Given the description of an element on the screen output the (x, y) to click on. 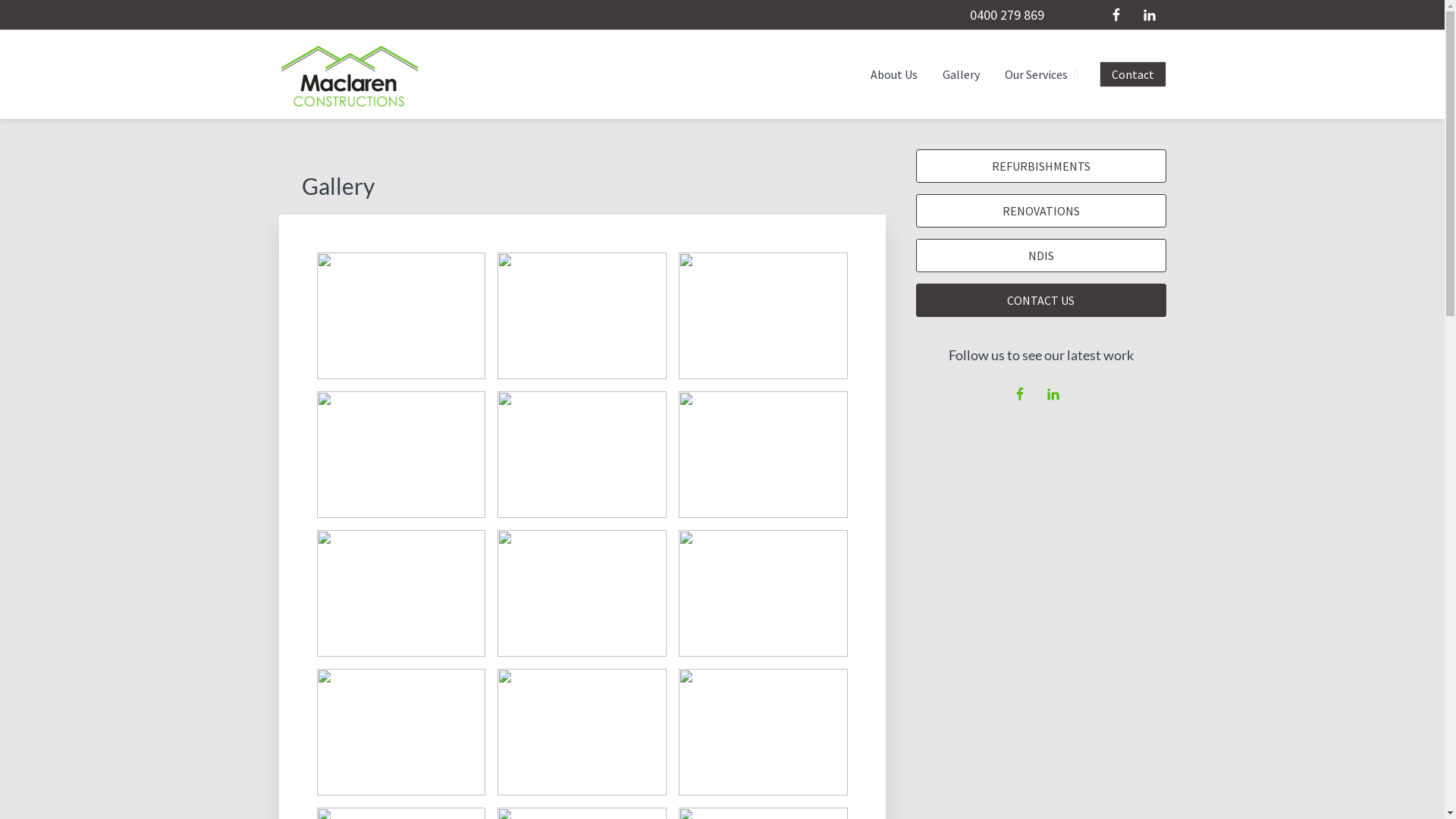
Gallery Element type: text (961, 74)
CONTACT US Element type: text (1041, 299)
Our Services Element type: text (1041, 74)
About Us Element type: text (893, 74)
REFURBISHMENTS Element type: text (1041, 165)
Contact Element type: text (1132, 74)
NDIS Element type: text (1041, 255)
MACLAREN CONSTRUCTIONS Element type: text (464, 125)
RENOVATIONS Element type: text (1041, 210)
Skip to primary navigation Element type: text (0, 0)
